Given the description of an element on the screen output the (x, y) to click on. 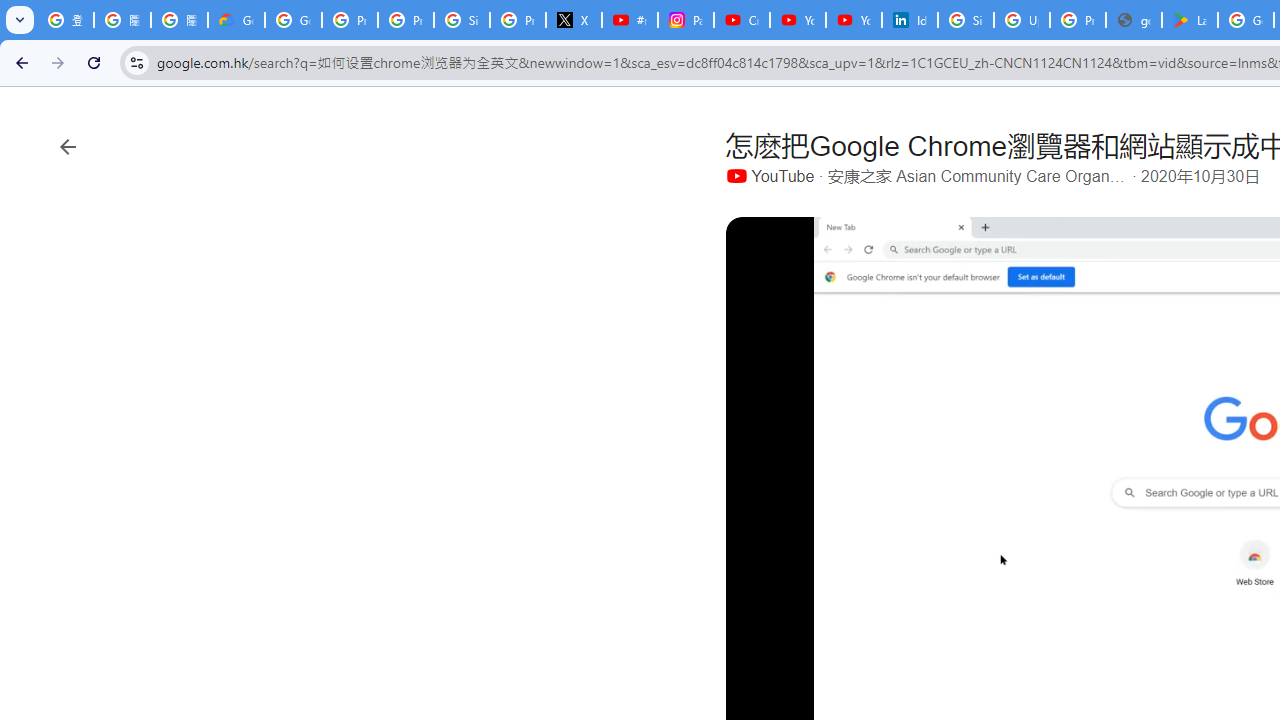
Sign in - Google Accounts (461, 20)
Sign in - Google Accounts (966, 20)
